Given the description of an element on the screen output the (x, y) to click on. 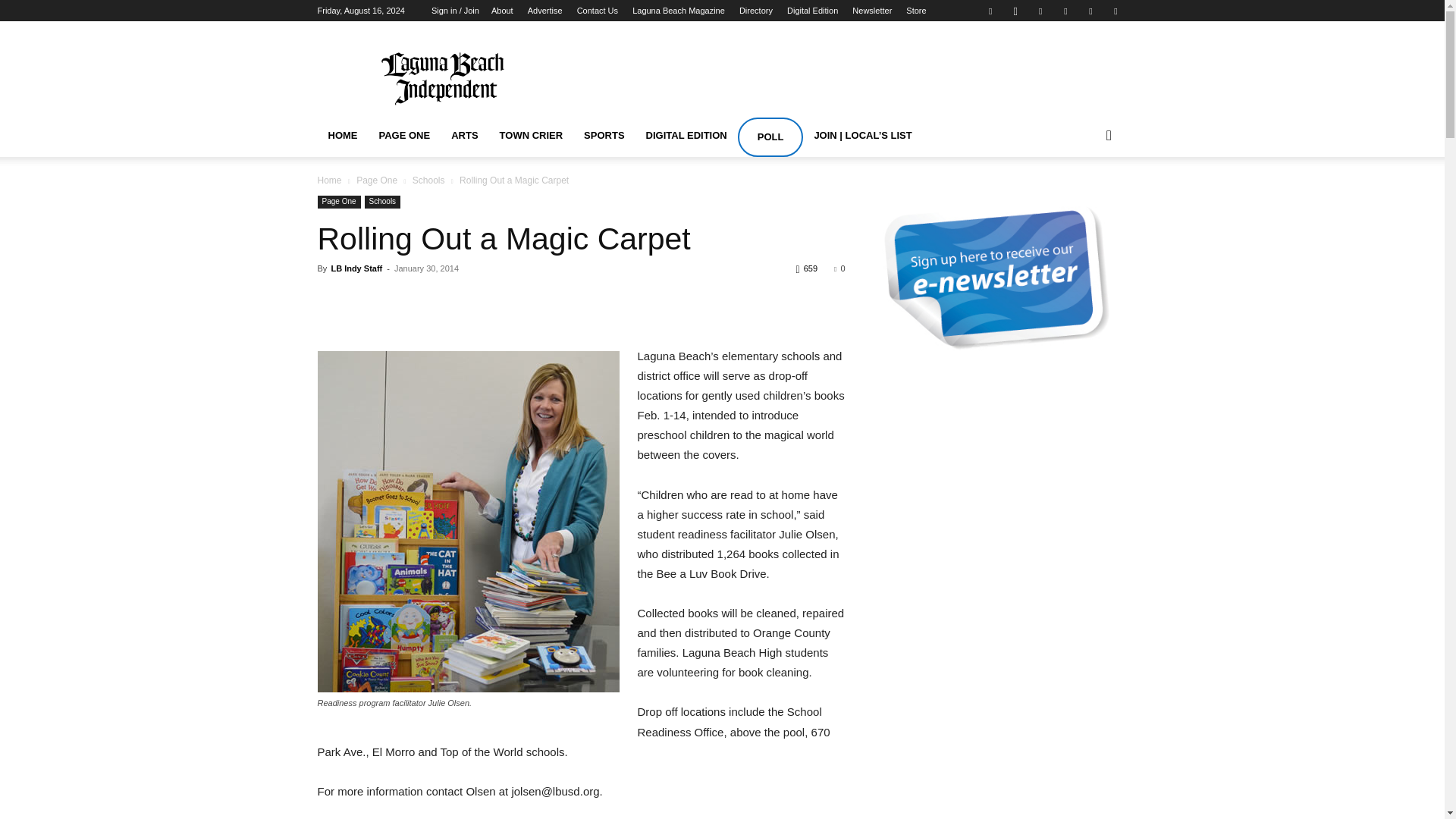
Facebook (989, 10)
Linkedin (1040, 10)
Instagram (1015, 10)
Youtube (1114, 10)
RSS (1065, 10)
View all posts in Schools (428, 180)
View all posts in Page One (376, 180)
Twitter (1090, 10)
